Given the description of an element on the screen output the (x, y) to click on. 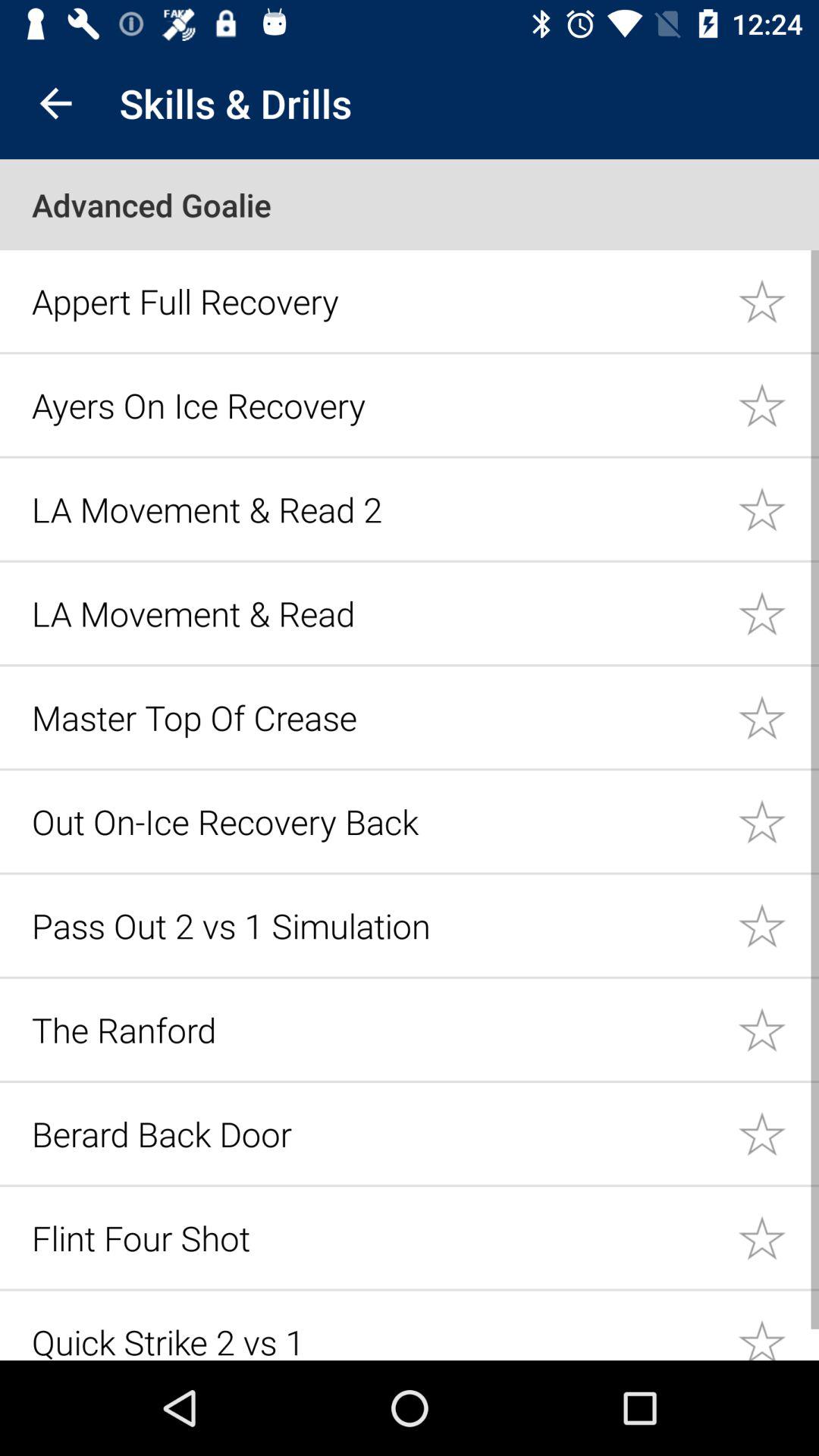
toggle favorite (778, 717)
